Given the description of an element on the screen output the (x, y) to click on. 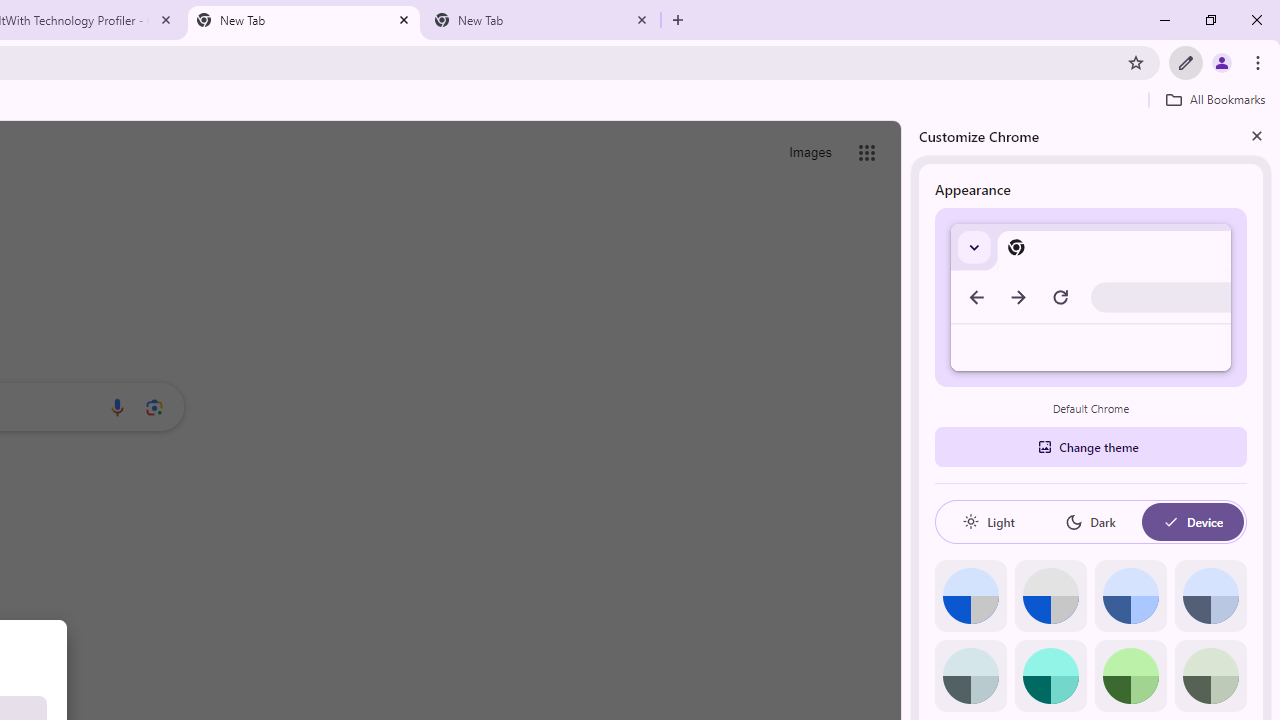
Grey (970, 676)
Cool grey (1210, 596)
Aqua (1050, 676)
Default Chrome (1091, 296)
Dark (1090, 521)
Viridian (1210, 676)
Default color (970, 596)
Green (1130, 676)
New Tab (541, 20)
AutomationID: baseSvg (1170, 521)
